Given the description of an element on the screen output the (x, y) to click on. 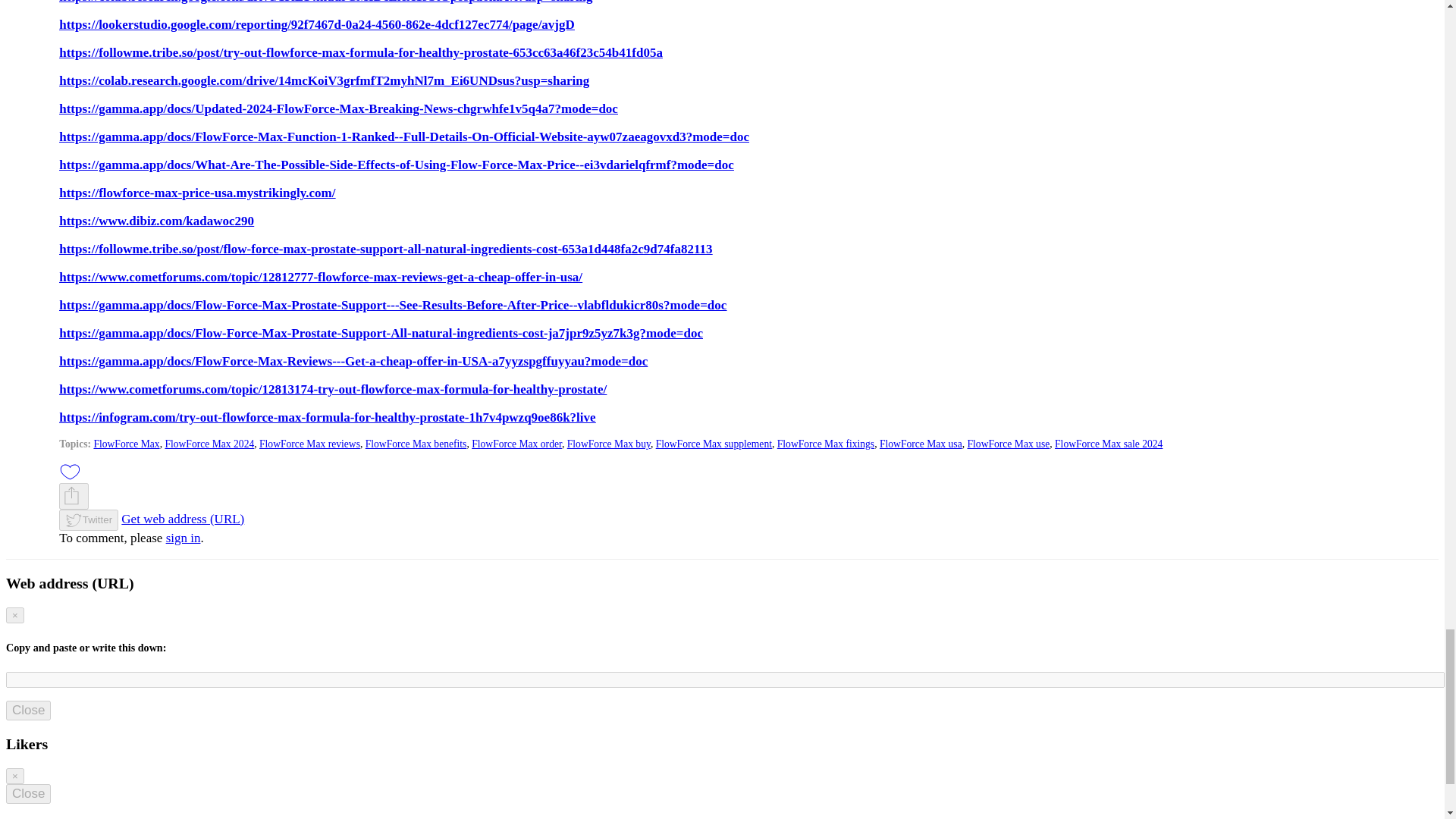
Like (70, 472)
Share (71, 495)
